Given the description of an element on the screen output the (x, y) to click on. 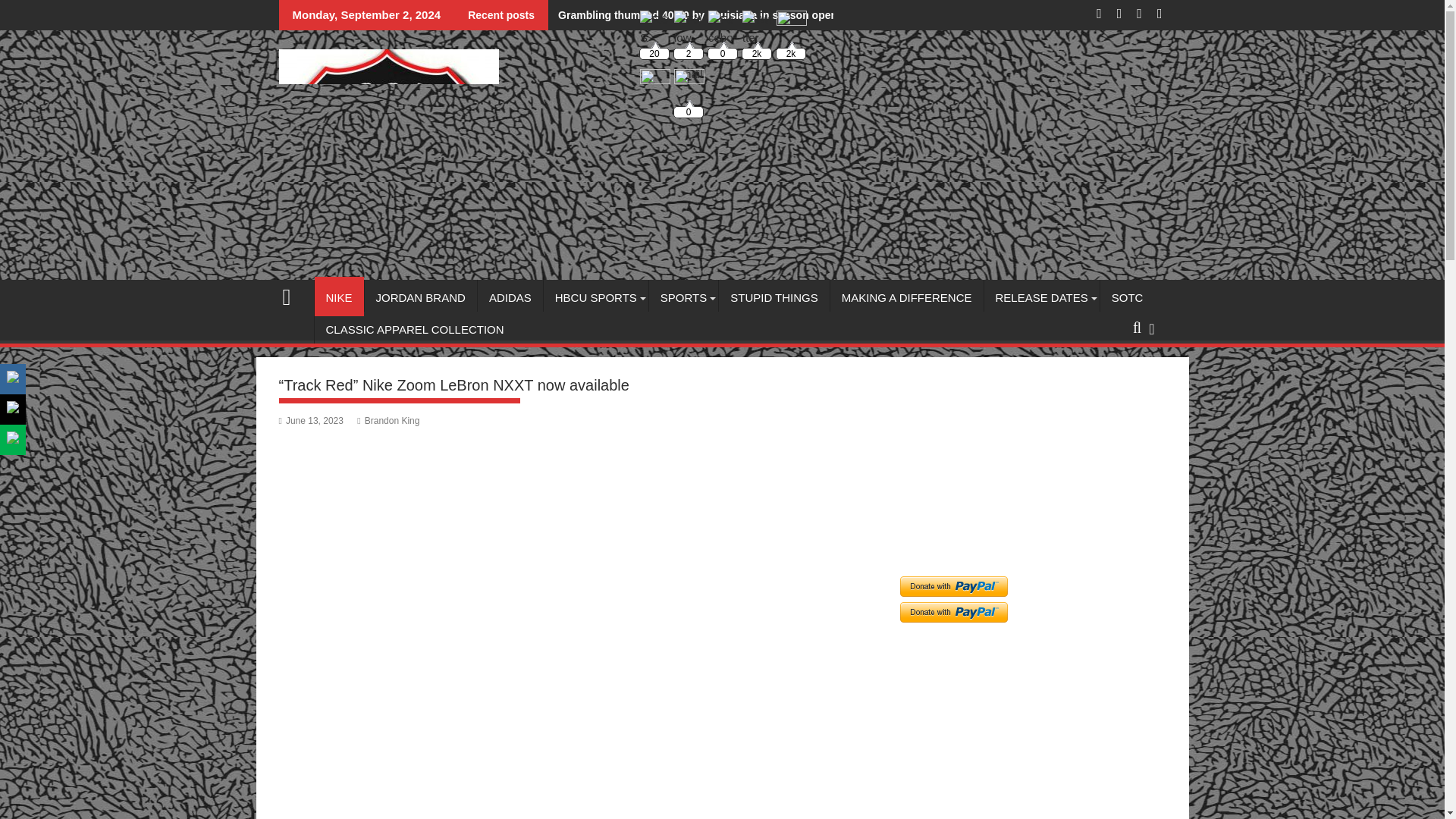
ADIDAS (510, 298)
HBCU SPORTS (595, 298)
SPORTS (683, 298)
Sneaker Shop Talk (293, 295)
STUPID THINGS (774, 298)
NIKE (338, 298)
Grambling thumped 40-10 by Louisiana in season opener (697, 15)
RELEASE DATES (1041, 298)
JORDAN BRAND (421, 298)
Grambling thumped 40-10 by Louisiana in season opener (697, 15)
